Given the description of an element on the screen output the (x, y) to click on. 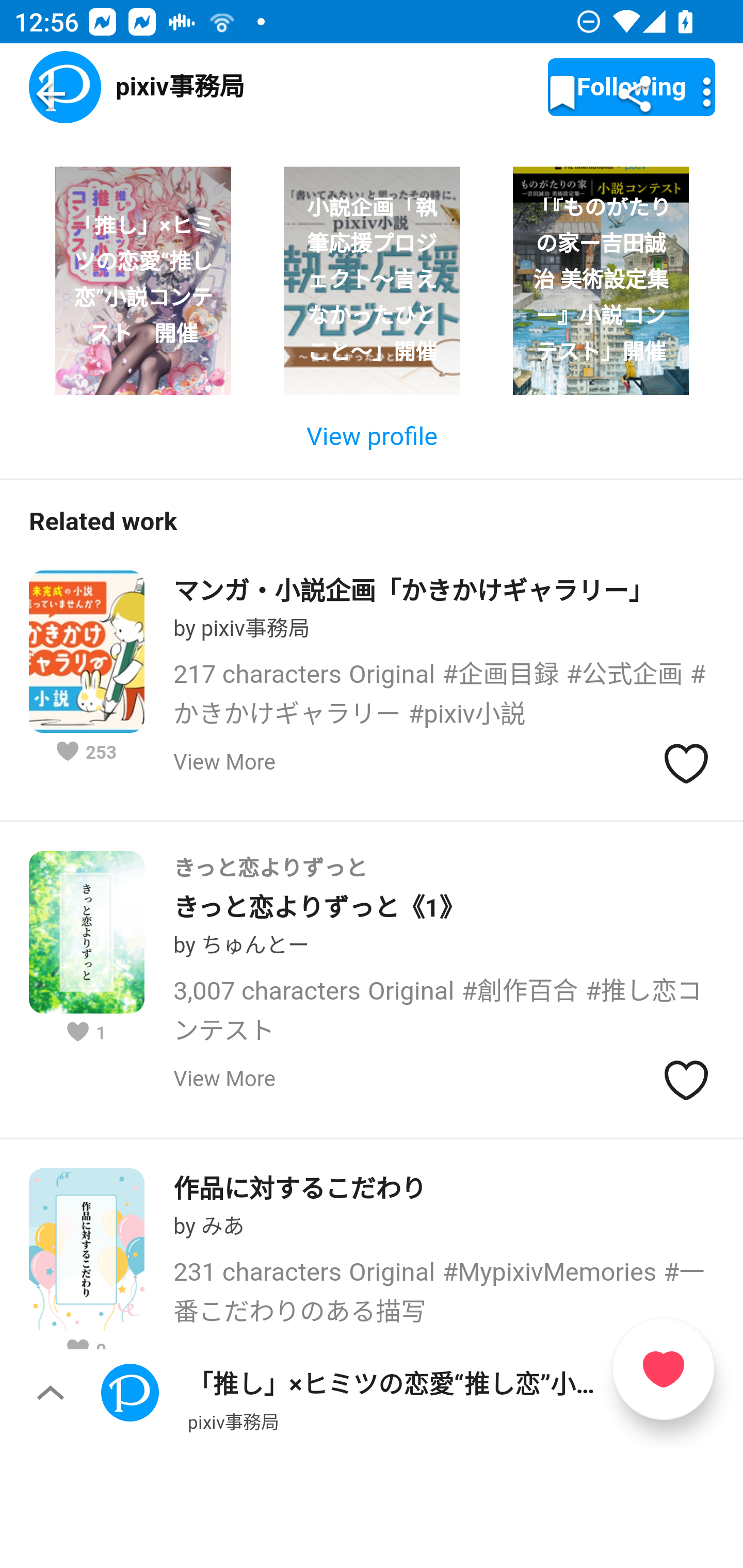
Navigate up (50, 93)
Following (631, 87)
View profile (371, 437)
マンガ・小説企画「かきかけギャラリー」 (414, 590)
View More (224, 762)
きっと恋よりずっと (444, 868)
きっと恋よりずっと《1》 (319, 908)
View More (224, 1080)
作品に対するこだわり (300, 1188)
pixiv事務局 (233, 1421)
